Given the description of an element on the screen output the (x, y) to click on. 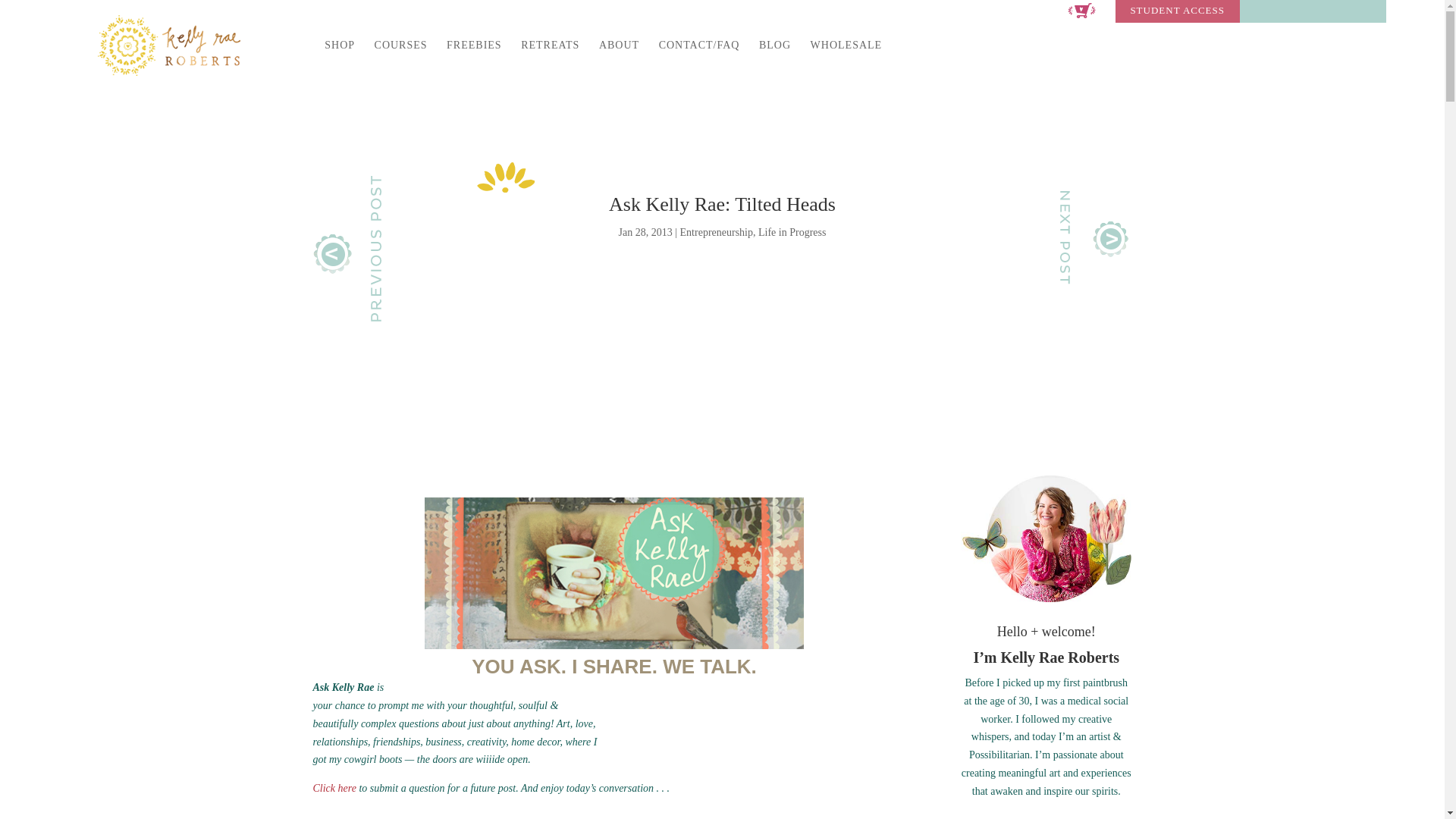
ABOUT (618, 58)
hello and welcome (1045, 538)
STUDENT ACCESS (1177, 13)
Entrepreneurship (715, 232)
Click here (334, 787)
WHOLESALE (846, 58)
FREEBIES (474, 58)
Life in Progress (791, 232)
RETREATS (550, 58)
BLOG (774, 58)
